Given the description of an element on the screen output the (x, y) to click on. 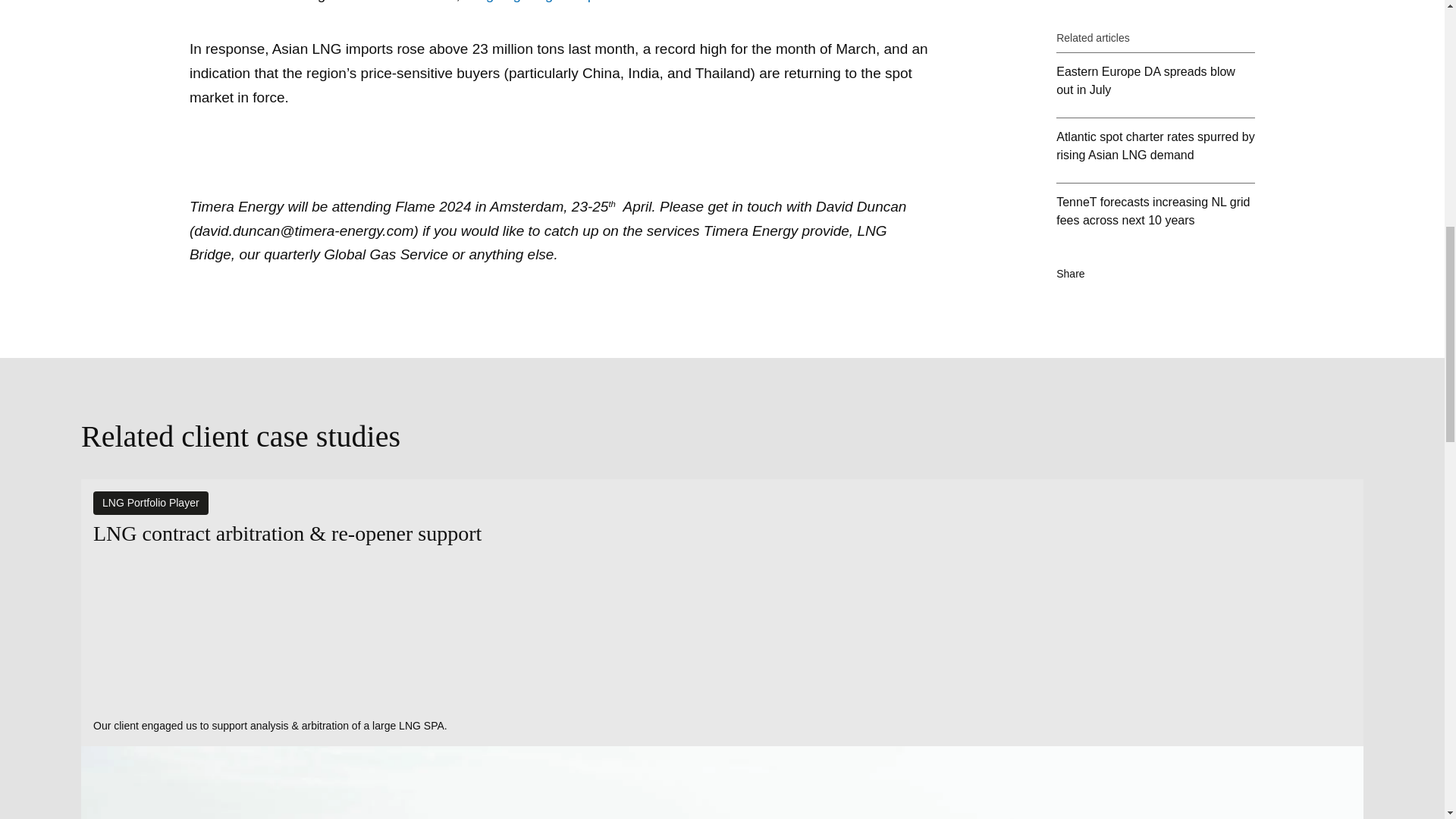
weighing on global prices (545, 1)
X (1146, 176)
Eastern Europe DA spreads blow out in July (1156, 1)
Copy (1177, 176)
LinkedIn (1114, 176)
incremental demand (757, 1)
